Given the description of an element on the screen output the (x, y) to click on. 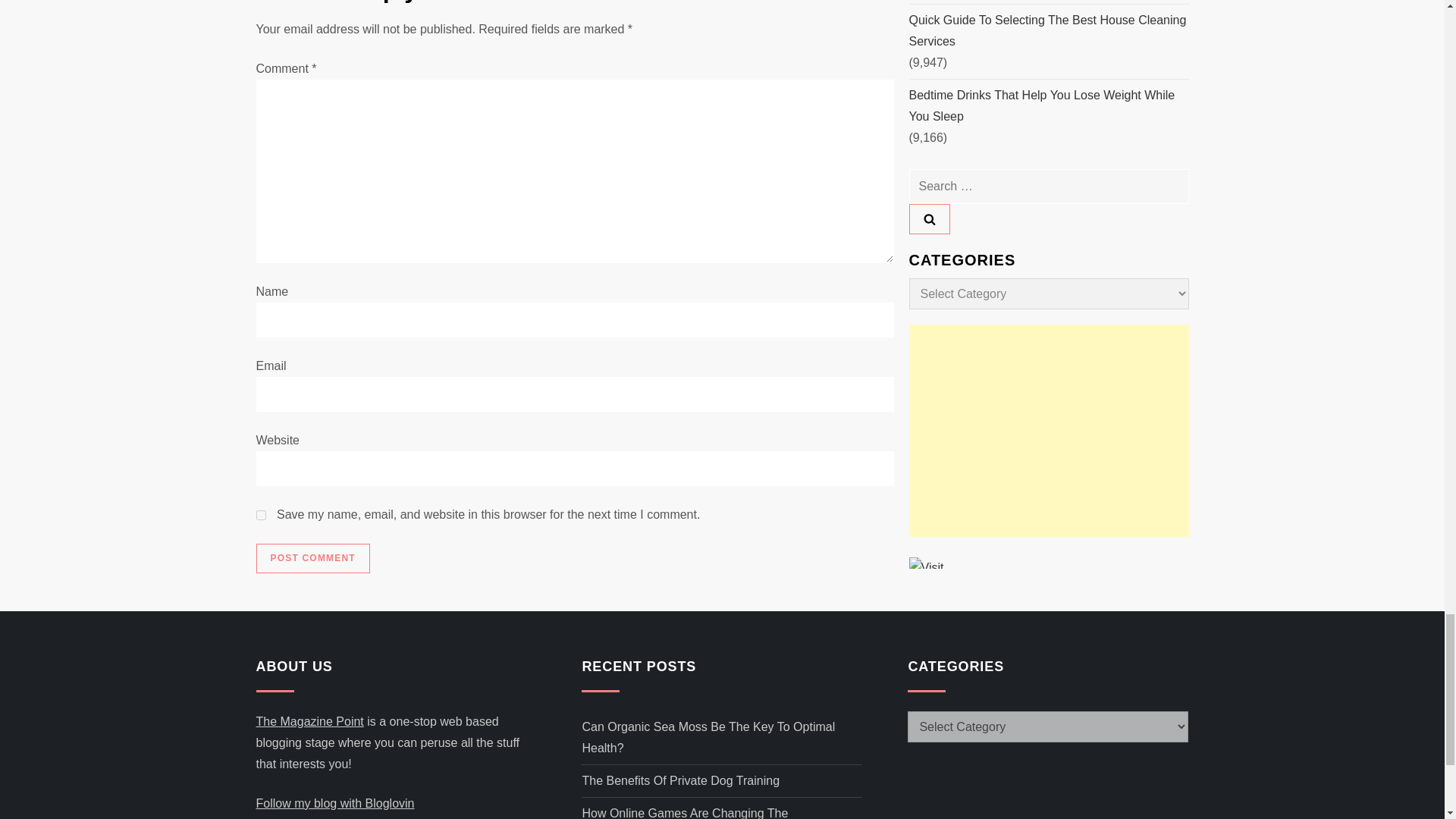
yes (261, 515)
Post Comment (312, 558)
